Given the description of an element on the screen output the (x, y) to click on. 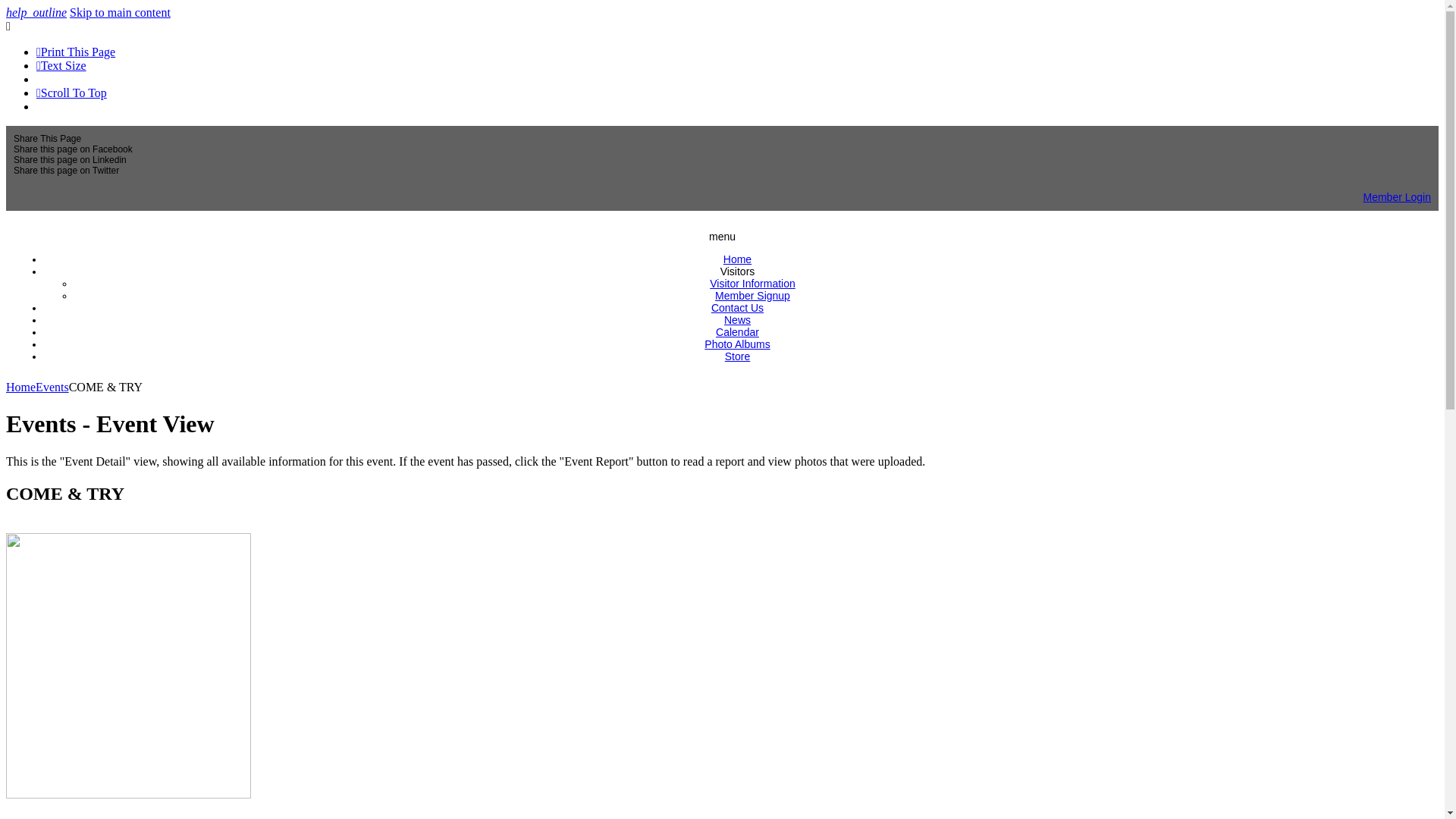
Member Signup Element type: text (752, 295)
menu Element type: text (722, 236)
Events Element type: text (52, 386)
help_outline Element type: text (36, 12)
Photo Albums Element type: text (736, 344)
News Element type: text (737, 319)
Store Element type: text (736, 356)
Calendar Element type: text (737, 332)
Contact Us Element type: text (737, 307)
Skip to main content Element type: text (119, 12)
Home Element type: text (20, 386)
Home Element type: text (737, 259)
Member Login Element type: text (1397, 197)
Visitor Information Element type: text (752, 283)
